Given the description of an element on the screen output the (x, y) to click on. 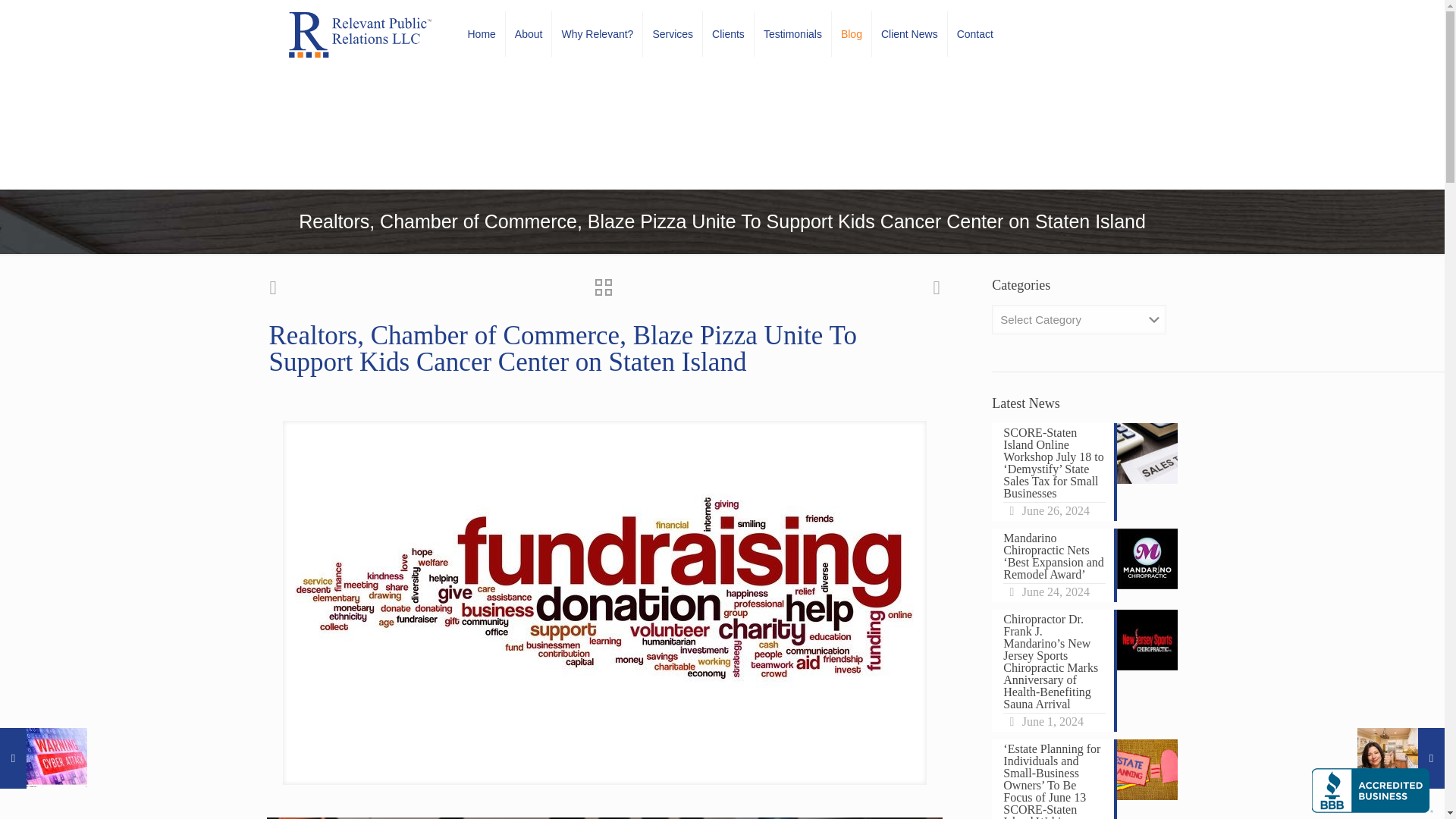
Why Relevant? (597, 33)
Relevant Public Relations (359, 33)
